Given the description of an element on the screen output the (x, y) to click on. 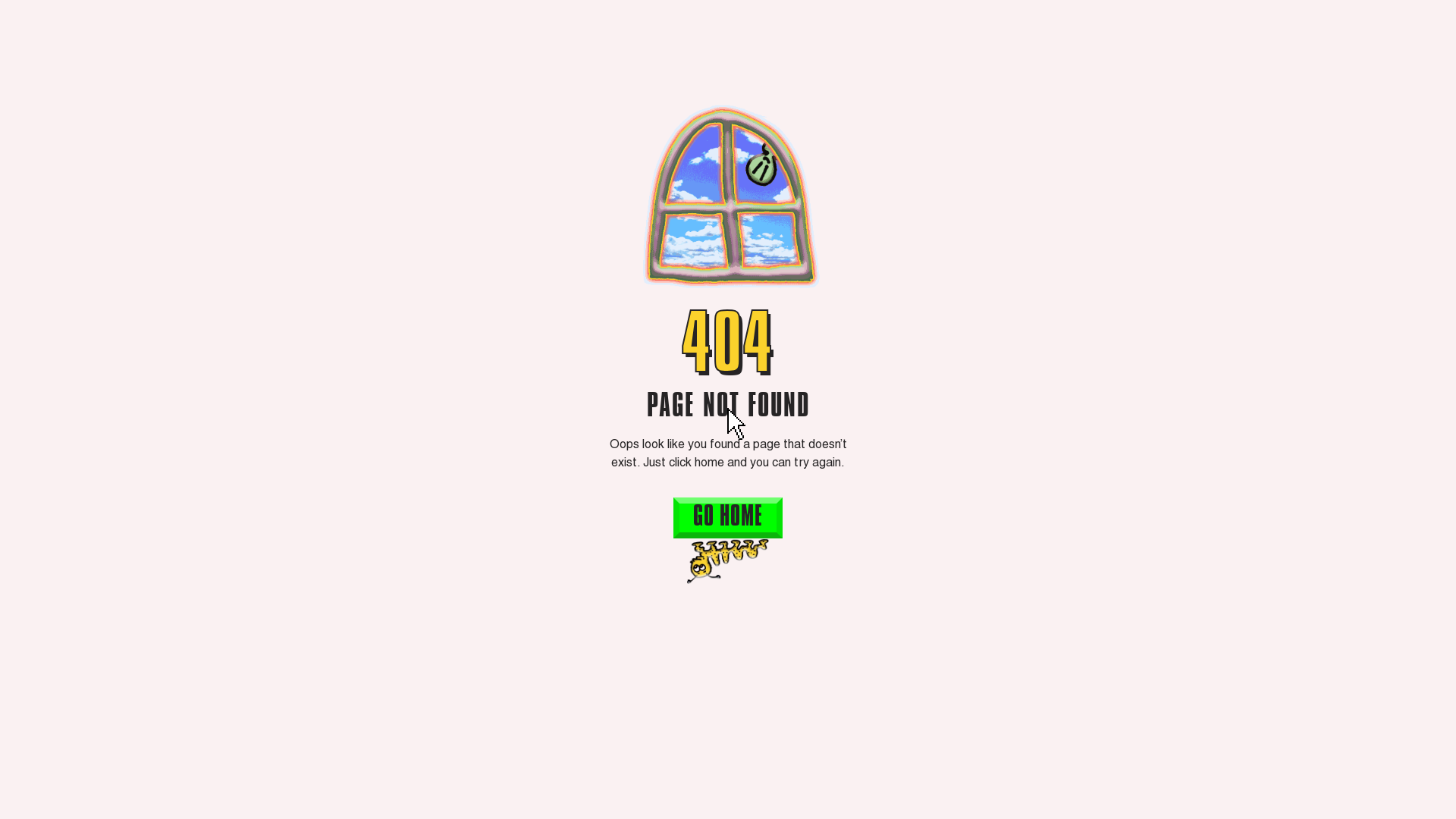
GO HOME Element type: text (727, 517)
